Given the description of an element on the screen output the (x, y) to click on. 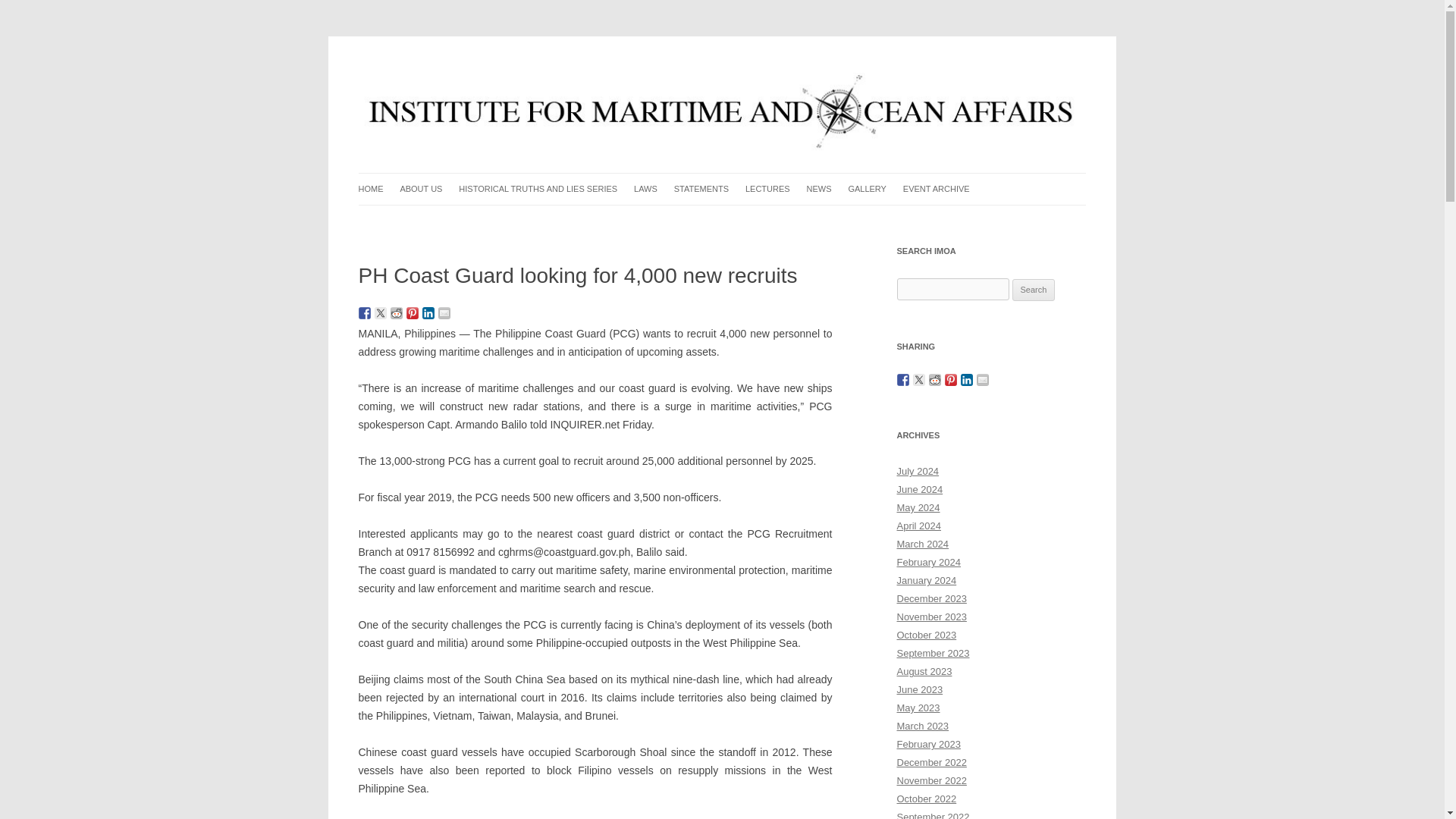
Relevant Philippine Laws (709, 219)
Institute for Maritime and Ocean Affairs (542, 72)
Share on Twitter (380, 313)
RELEVANT PHILIPPINE LAWS (709, 219)
ABOUT US (420, 188)
Skip to content (757, 177)
Share on Linkedin (427, 313)
Skip to content (757, 177)
Search (1033, 290)
Share on Reddit (395, 313)
